Given the description of an element on the screen output the (x, y) to click on. 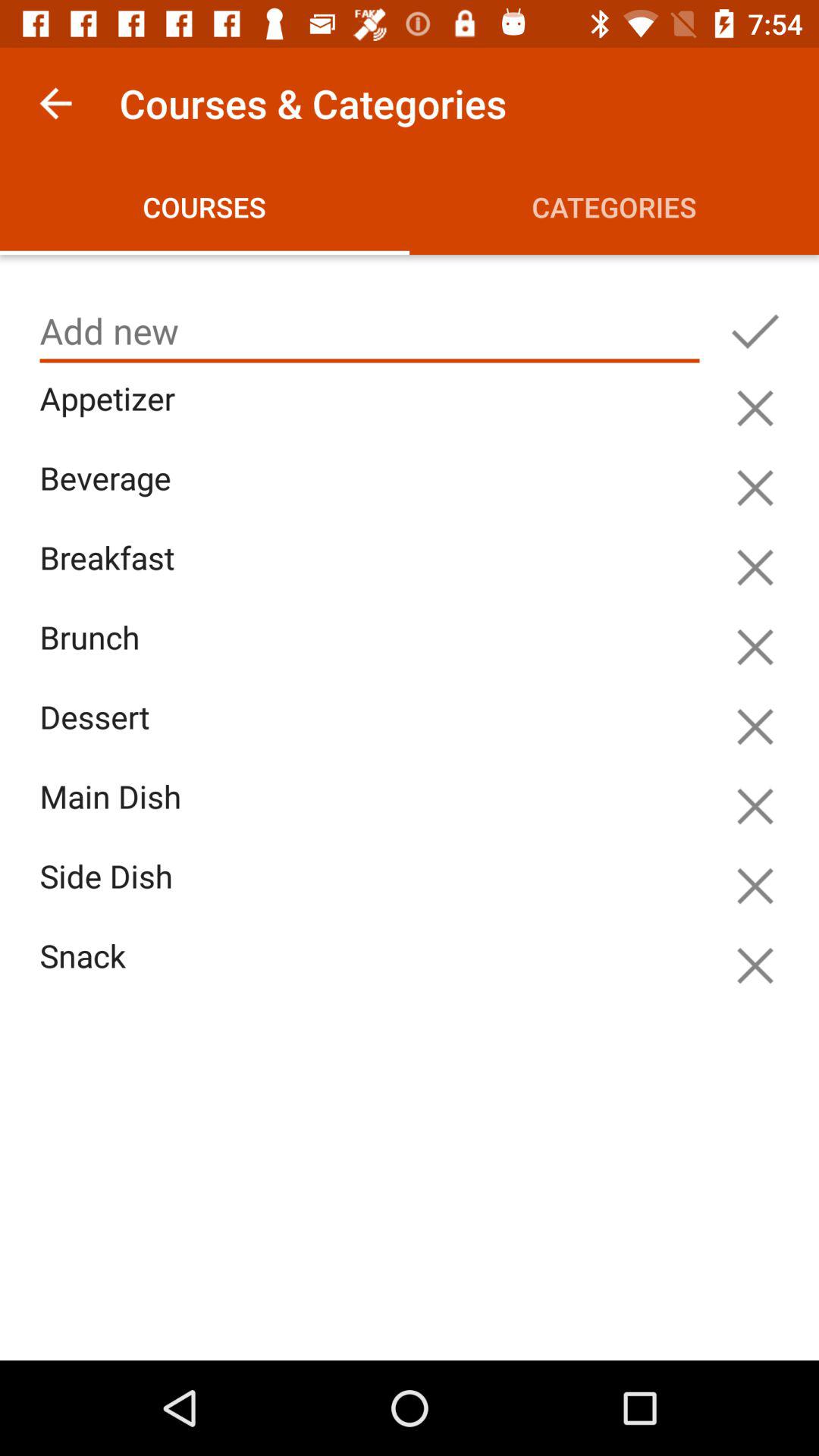
select icon below main dish (373, 893)
